Given the description of an element on the screen output the (x, y) to click on. 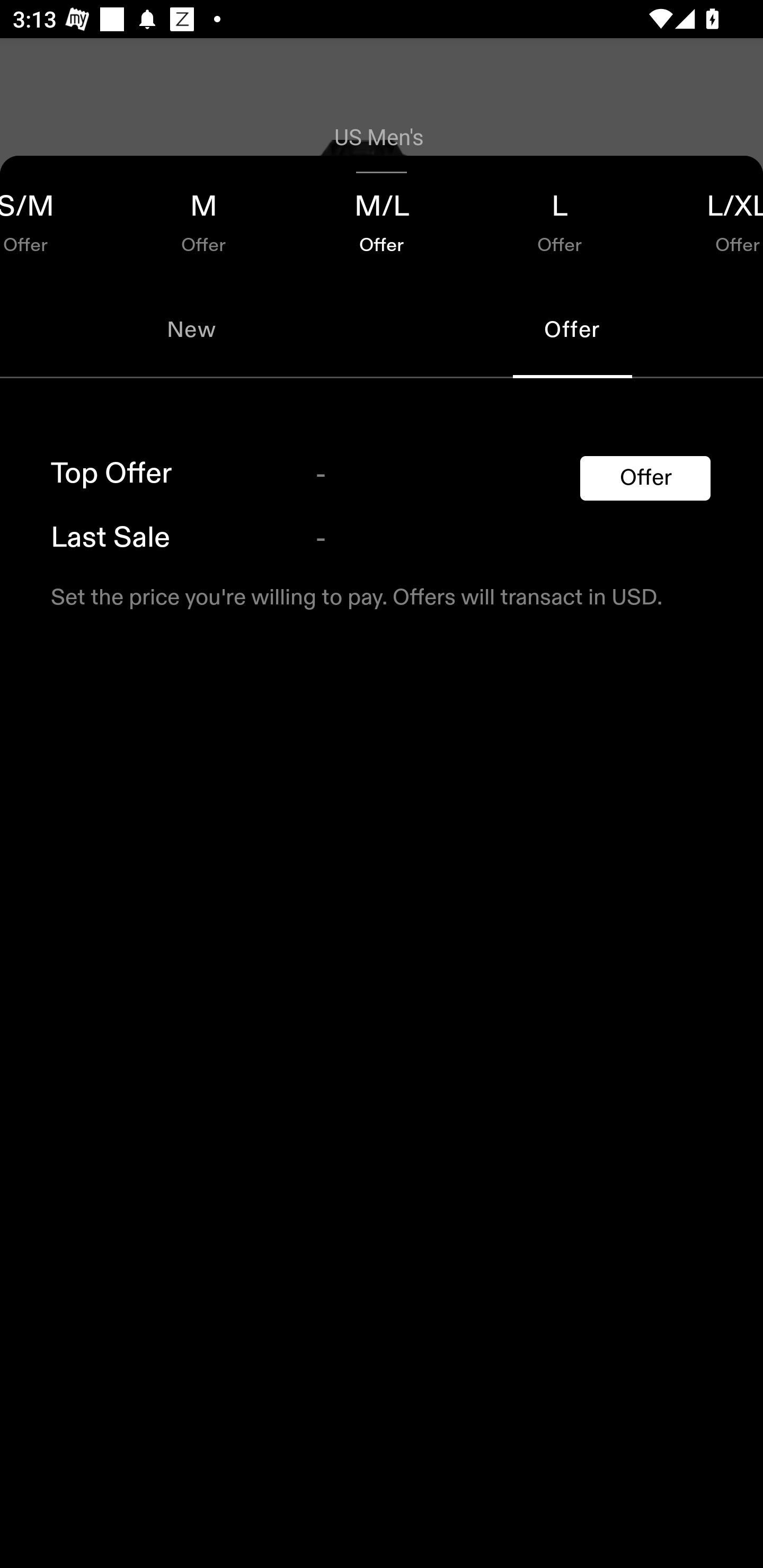
S/M Offer (57, 218)
M Offer (203, 218)
M/L Offer (381, 218)
L Offer (559, 218)
L/XL Offer (705, 218)
New (190, 329)
Offer (644, 477)
